Given the description of an element on the screen output the (x, y) to click on. 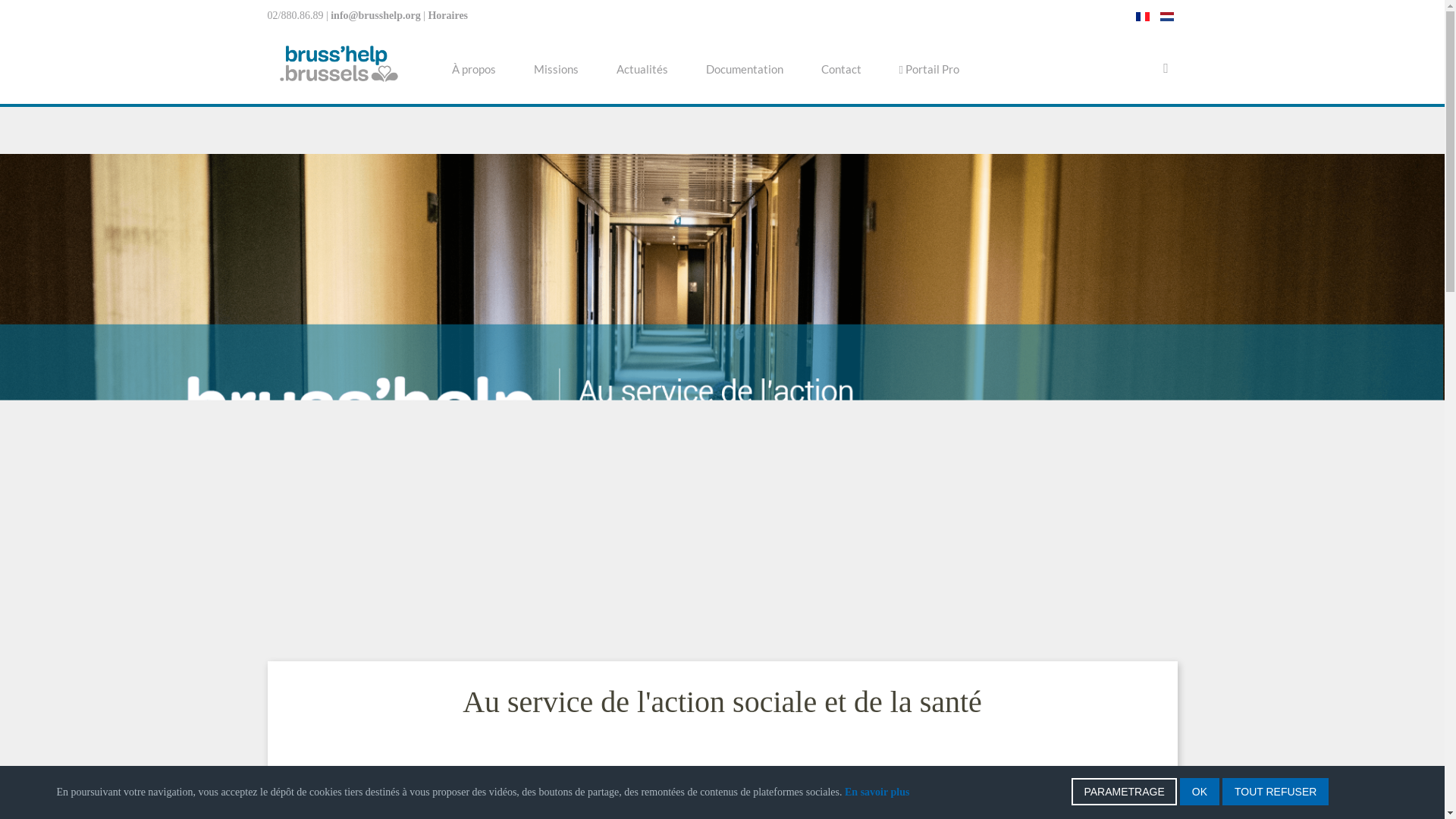
info@brusshelp.org Element type: text (375, 15)
Missions Element type: text (555, 68)
PARAMETRAGE Element type: text (1123, 791)
OK Element type: text (1199, 791)
En savoir plus Element type: text (876, 791)
Contact Element type: text (841, 68)
Nederlands Element type: hover (1166, 16)
TOUT REFUSER Element type: text (1275, 791)
Horaires Element type: text (447, 15)
Portail Pro Element type: text (928, 68)
Commission Communautaire Commune Element type: text (453, 796)
Documentation Element type: text (744, 68)
